Given the description of an element on the screen output the (x, y) to click on. 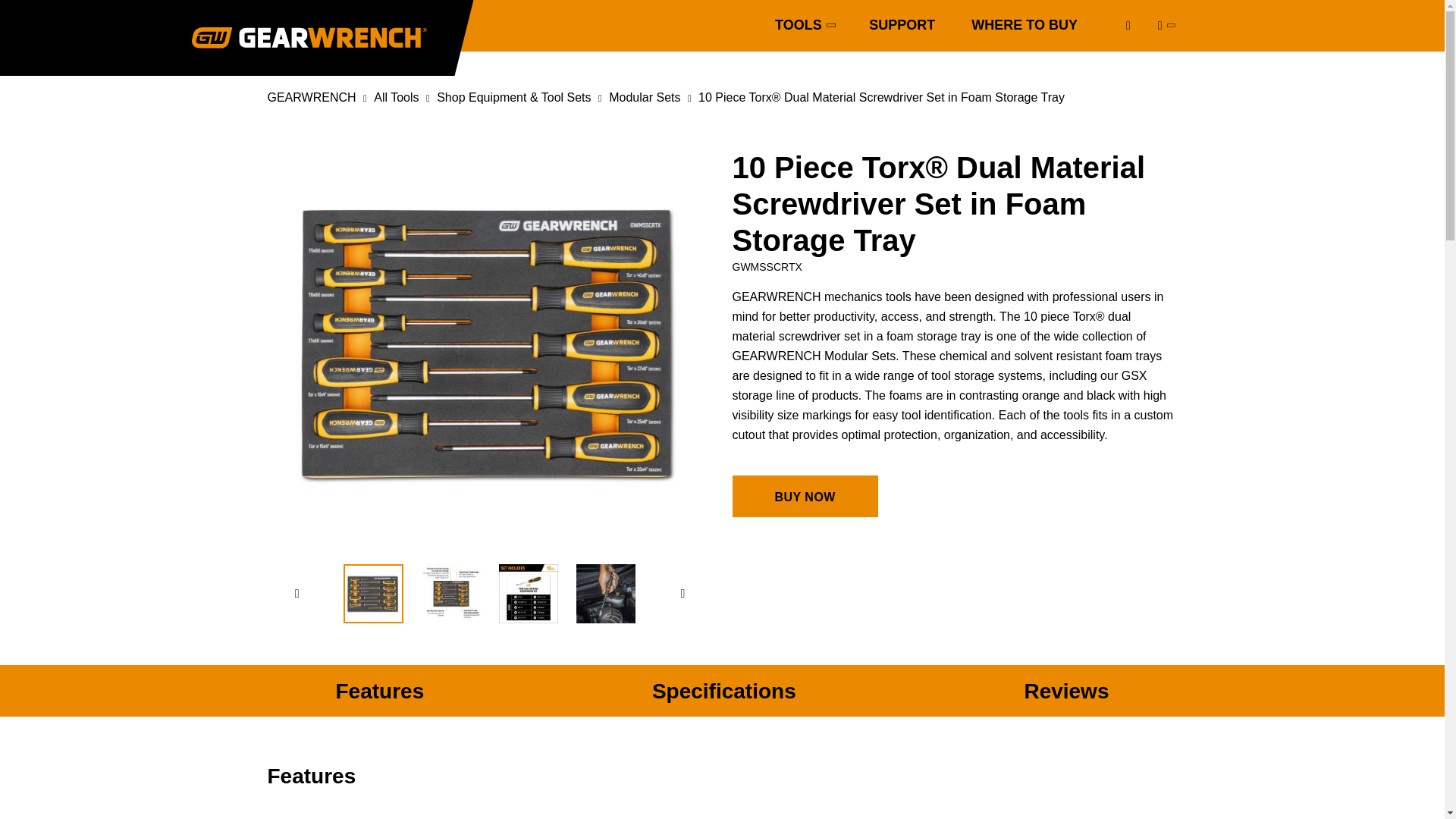
Home (308, 37)
SUPPORT (901, 25)
GEARWRENCH (310, 97)
All Tools (396, 97)
WHERE TO BUY (1024, 25)
